Given the description of an element on the screen output the (x, y) to click on. 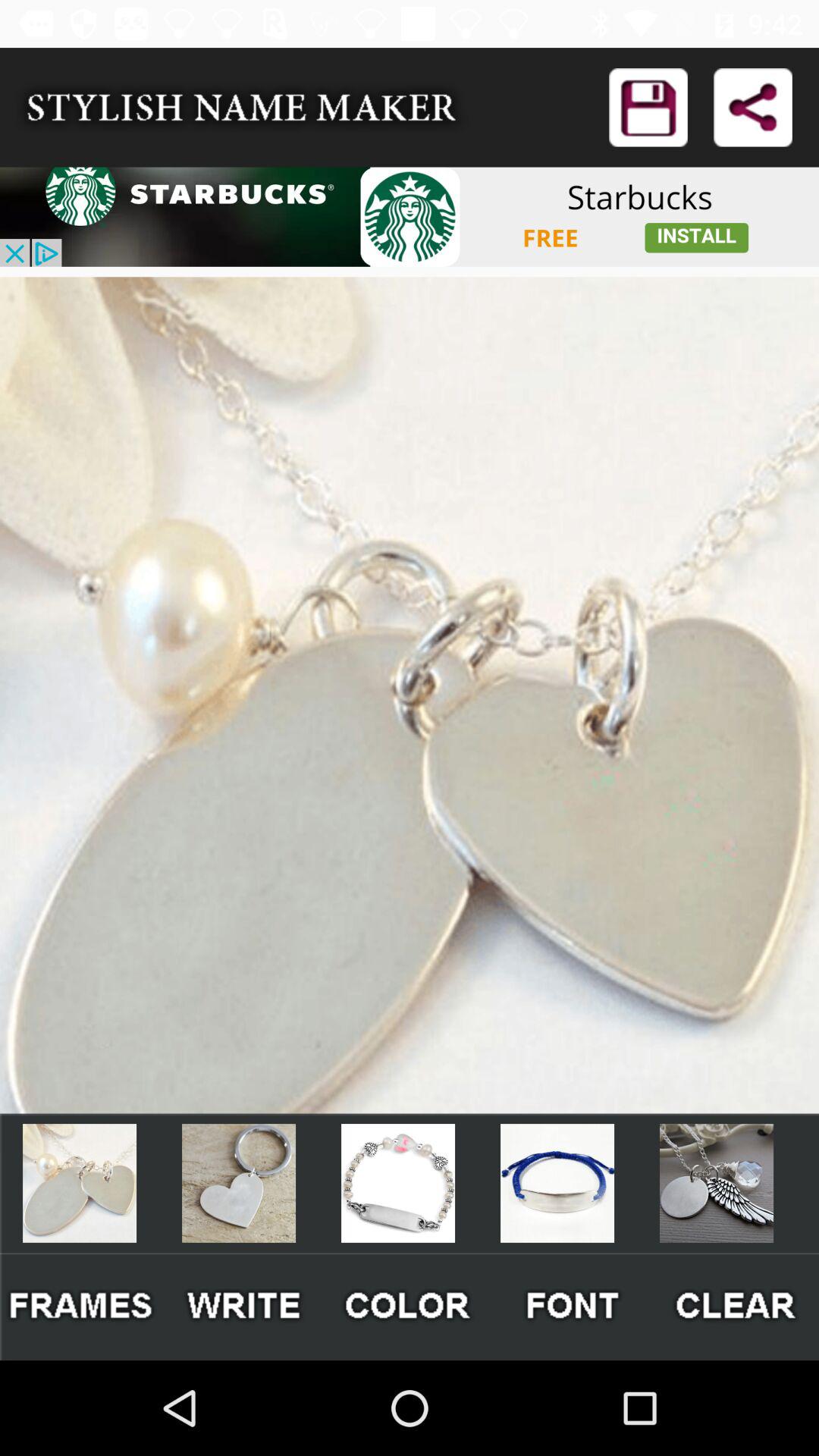
changing the color (408, 1306)
